Given the description of an element on the screen output the (x, y) to click on. 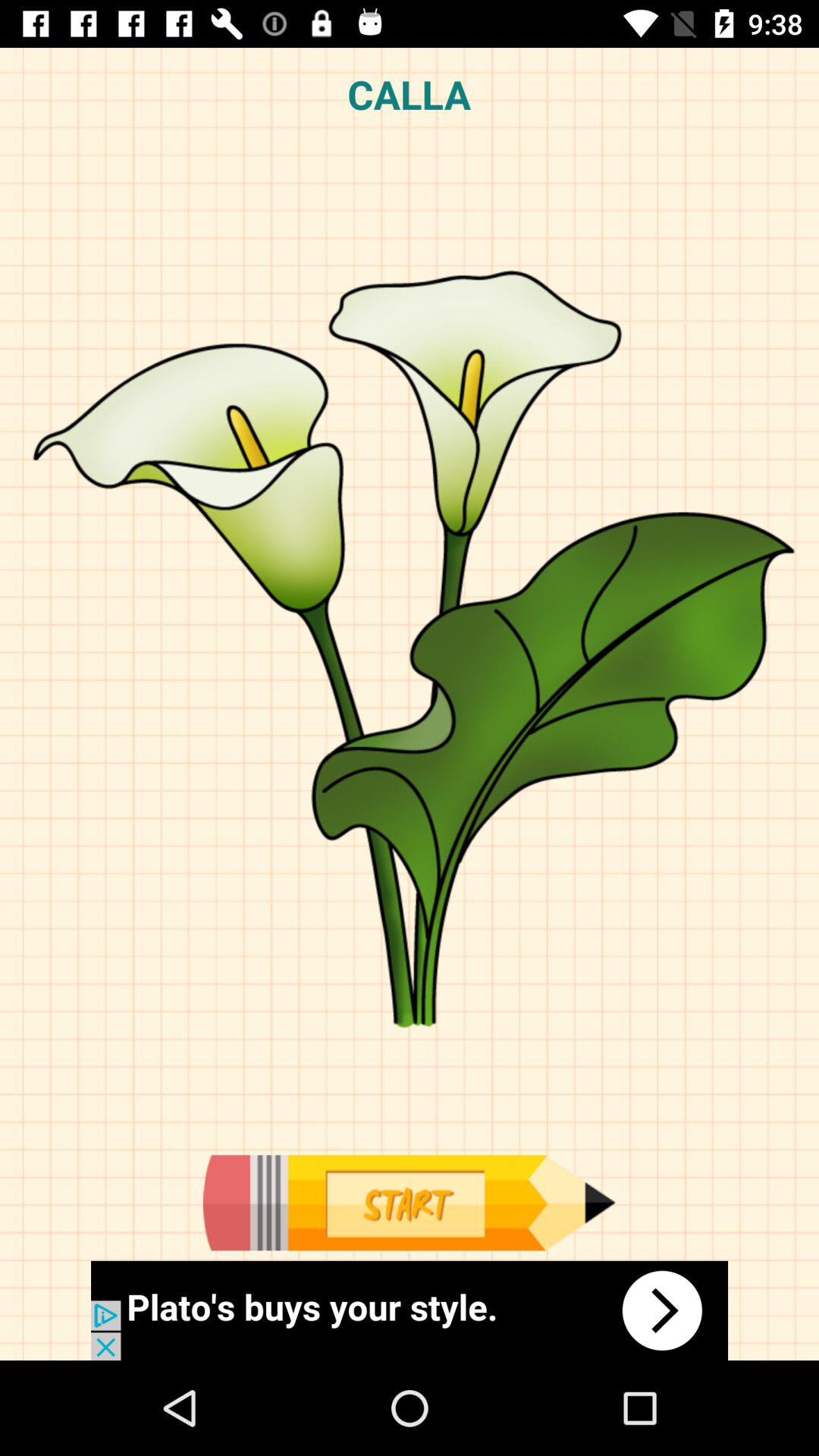
view advertiser (409, 1310)
